Given the description of an element on the screen output the (x, y) to click on. 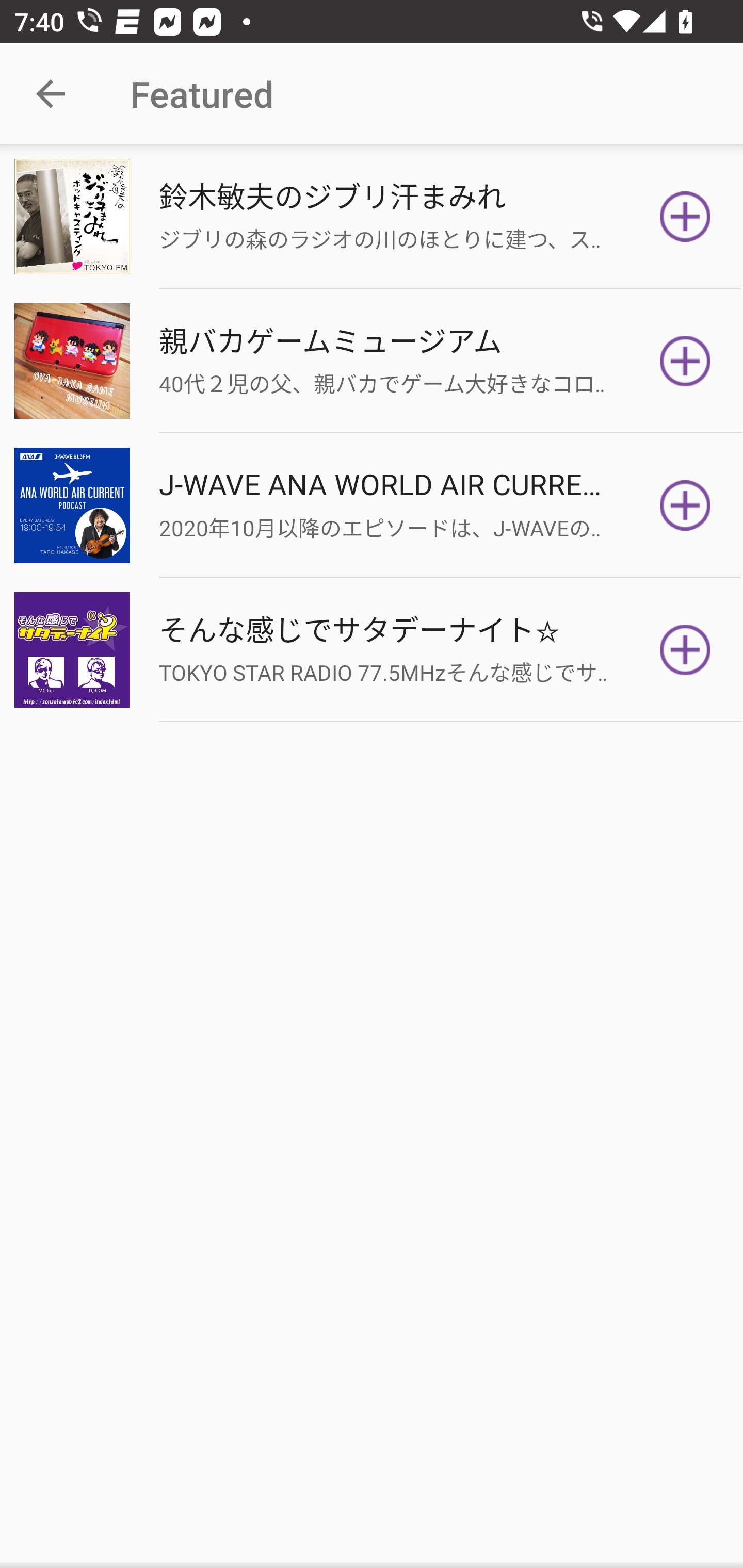
Navigate up (50, 93)
Subscribe (685, 216)
Subscribe (685, 360)
Subscribe (685, 505)
Subscribe (685, 649)
